Given the description of an element on the screen output the (x, y) to click on. 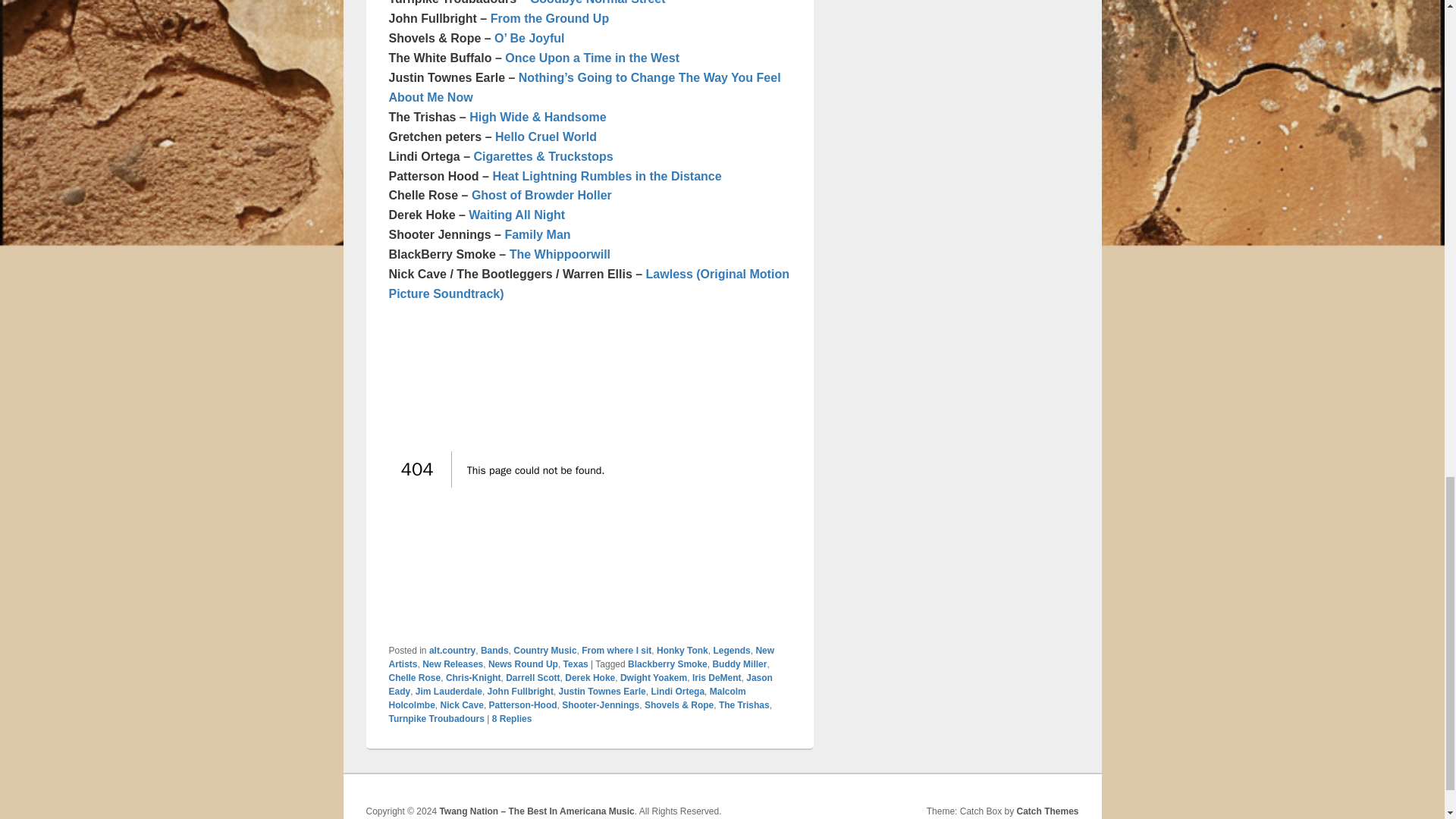
Country Music (544, 650)
Catch Themes (1047, 810)
Honky Tonk (681, 650)
Hello Cruel World (545, 136)
From where I sit (615, 650)
Once Upon a Time in the West (592, 57)
Ghost of Browder Holler (541, 195)
Goodbye Normal Street (597, 2)
Legends (731, 650)
Family Man (536, 234)
